Given the description of an element on the screen output the (x, y) to click on. 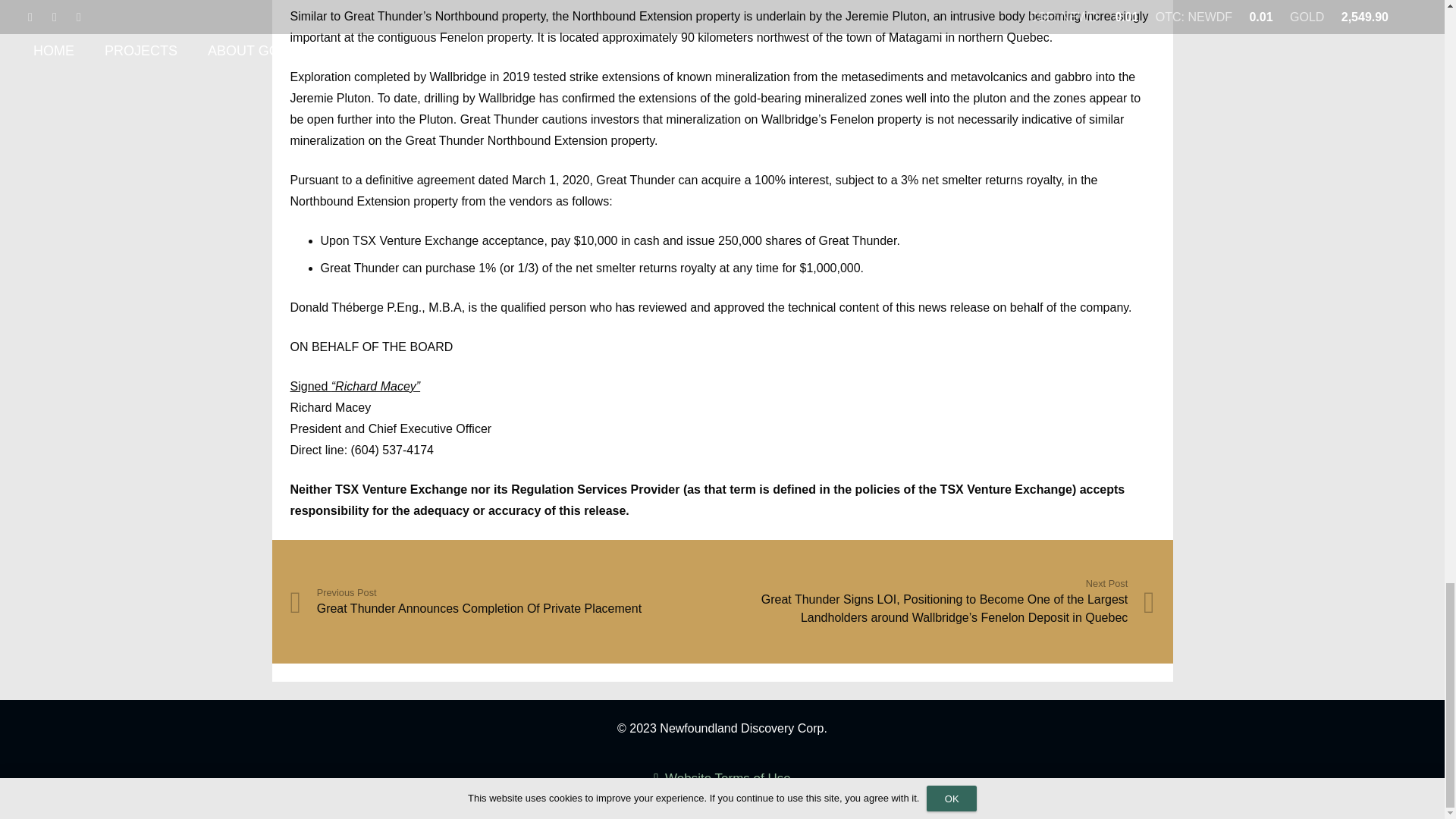
Website Terms of Use (721, 779)
Great Thunder Announces Completion Of Private Placement (505, 601)
